Given the description of an element on the screen output the (x, y) to click on. 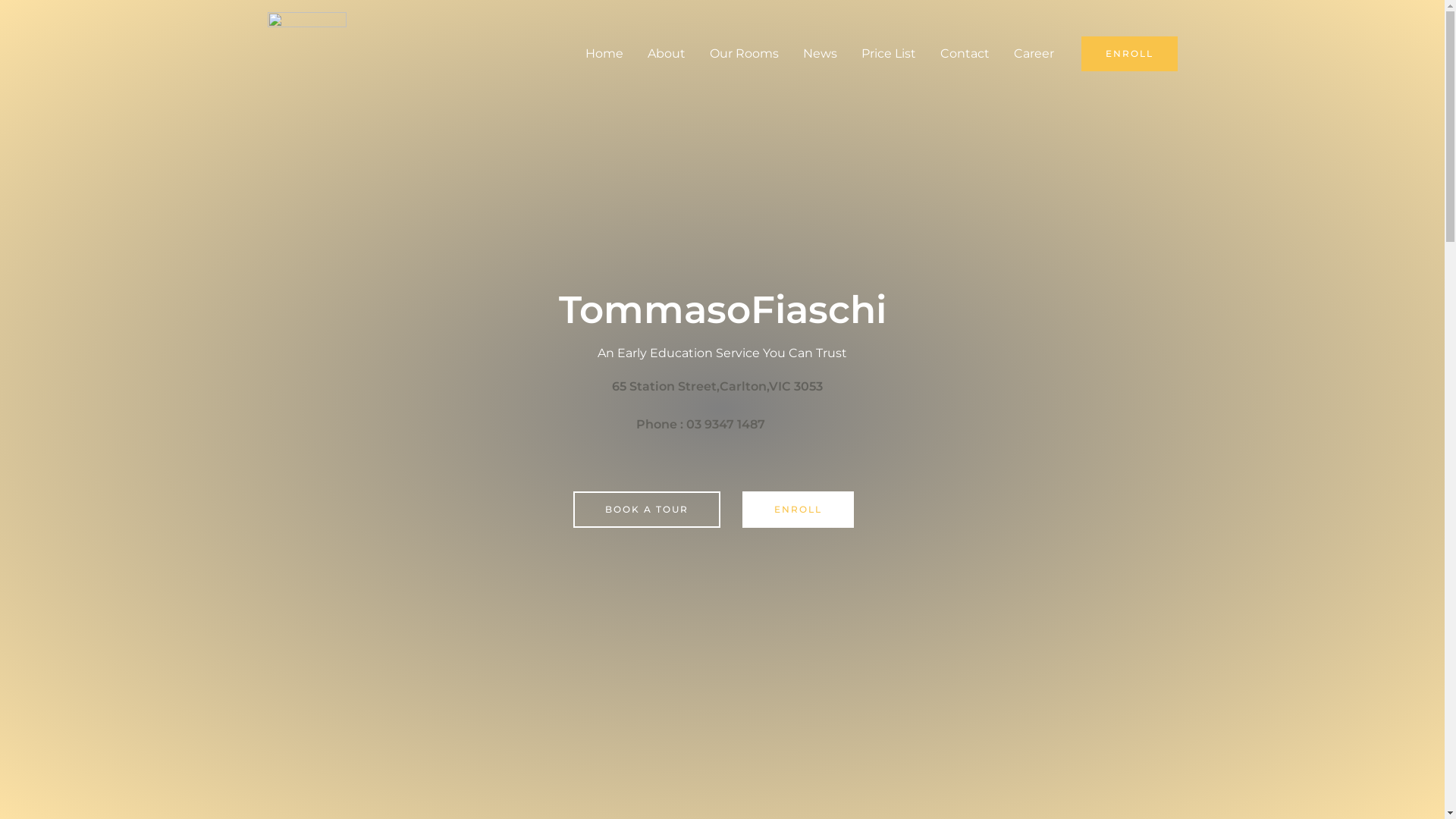
Price List Element type: text (888, 53)
ENROLL Element type: text (1129, 53)
Home Element type: text (604, 53)
Contact Element type: text (964, 53)
BOOK A TOUR Element type: text (646, 509)
ENROLL Element type: text (797, 509)
About Element type: text (666, 53)
Career Element type: text (1033, 53)
Our Rooms Element type: text (743, 53)
News Element type: text (819, 53)
